Given the description of an element on the screen output the (x, y) to click on. 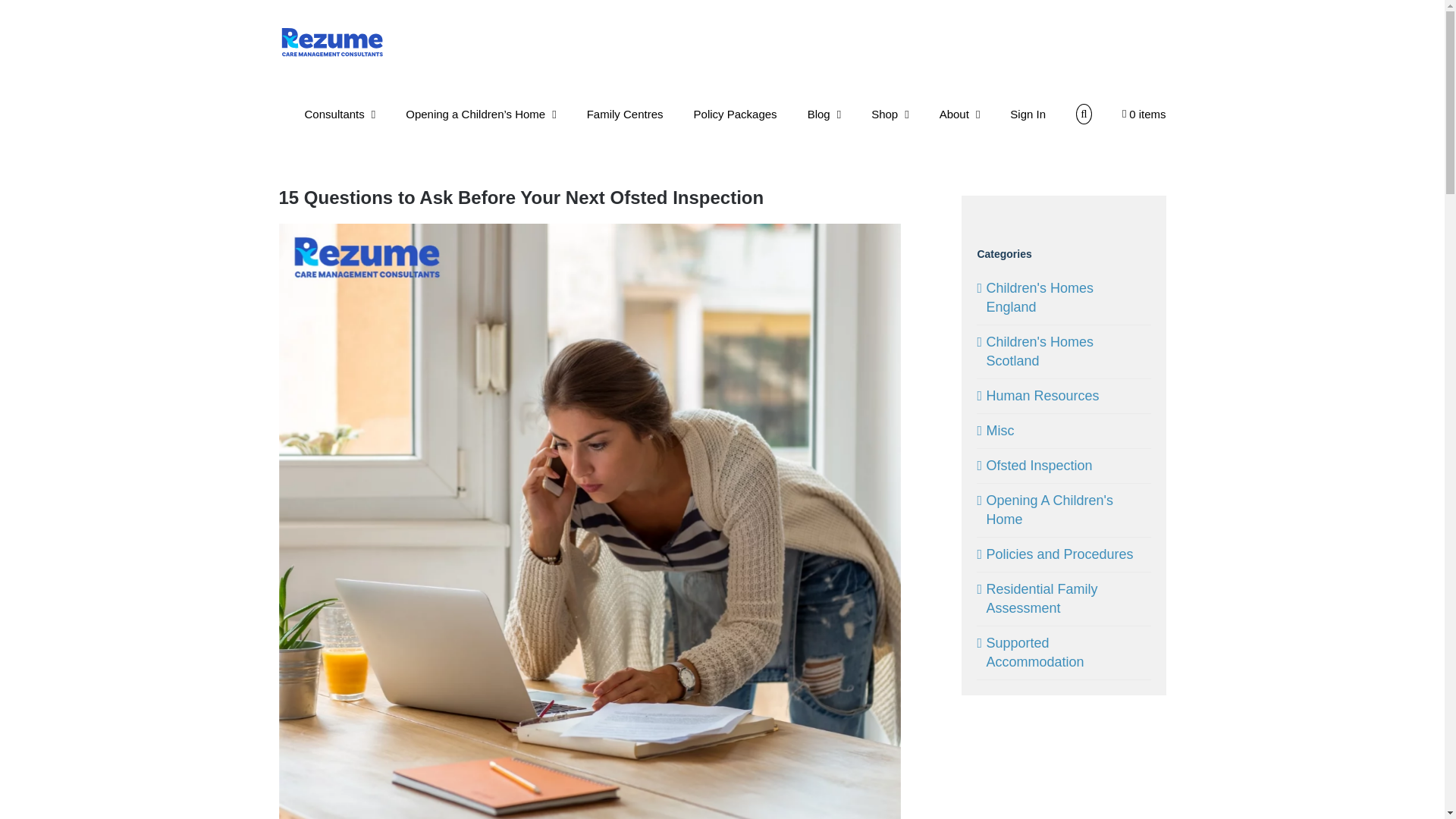
Family Centres (624, 114)
Consultants (339, 114)
Policy Packages (735, 114)
